Given the description of an element on the screen output the (x, y) to click on. 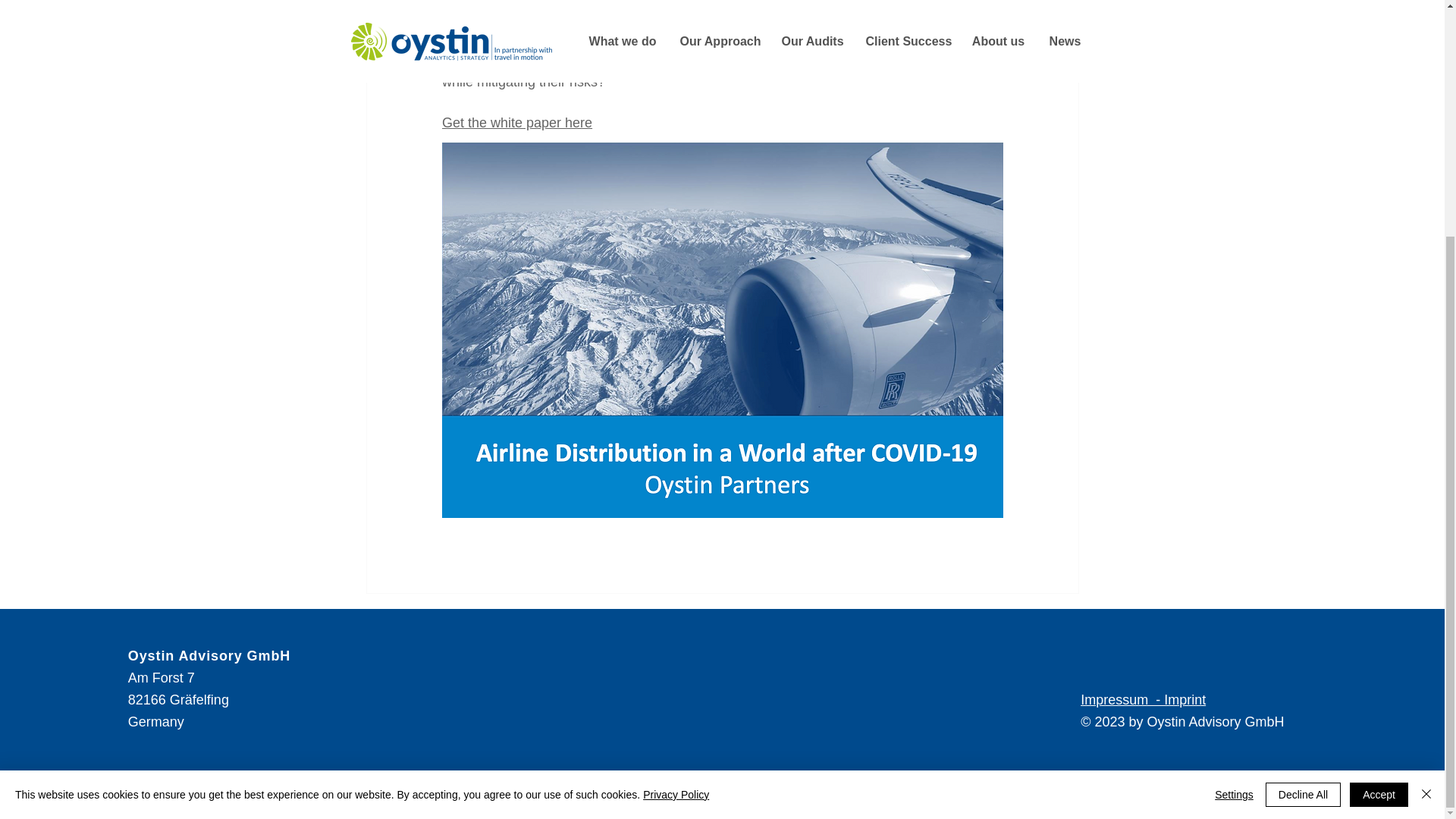
Oystin Advisory GmbH (208, 655)
Privacy Policy (676, 472)
Decline All (1302, 472)
Get the white paper here (516, 122)
Impressum  - Imprint (1142, 699)
Accept (1378, 472)
